Given the description of an element on the screen output the (x, y) to click on. 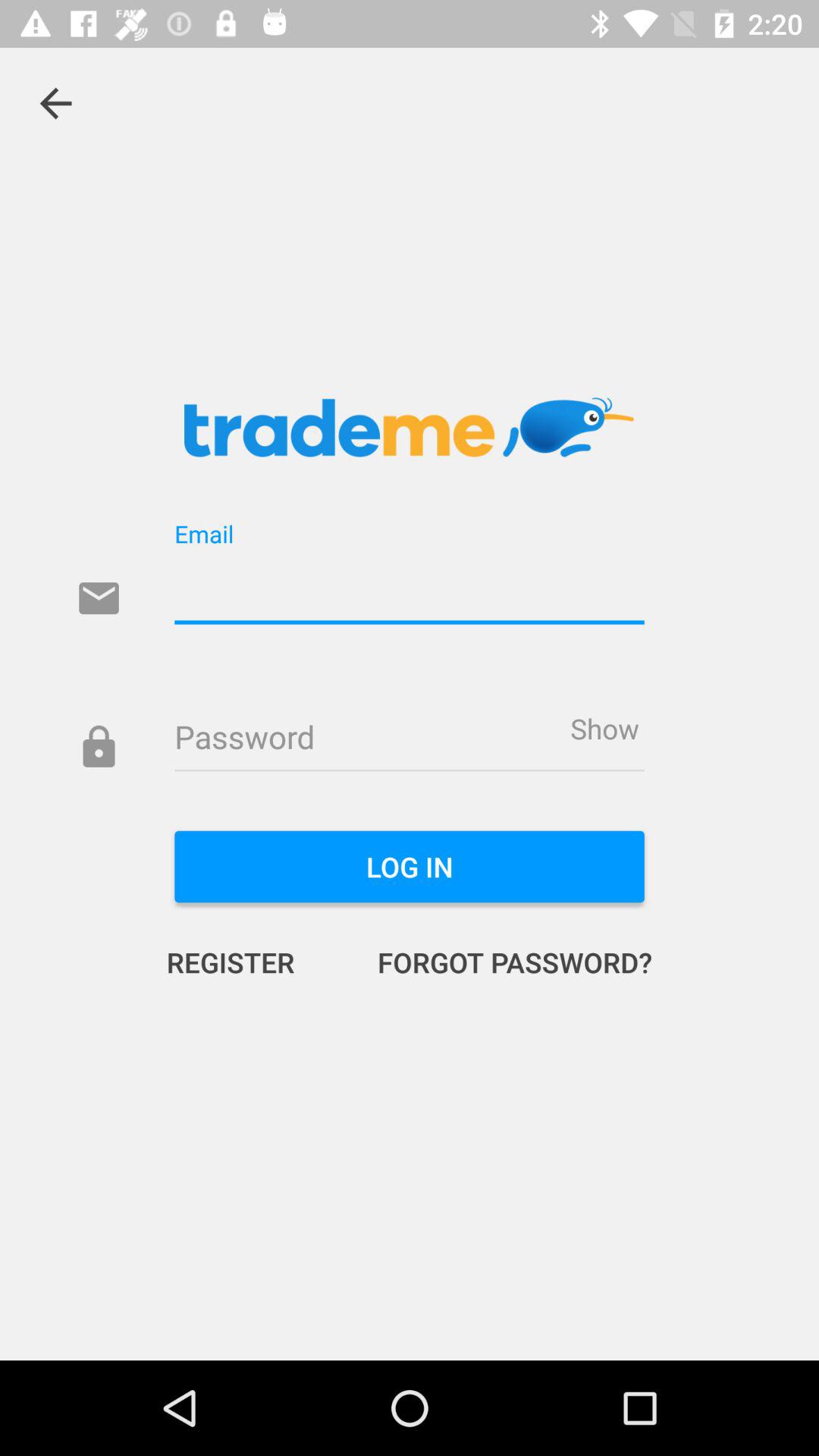
open forgot password? item (498, 962)
